Given the description of an element on the screen output the (x, y) to click on. 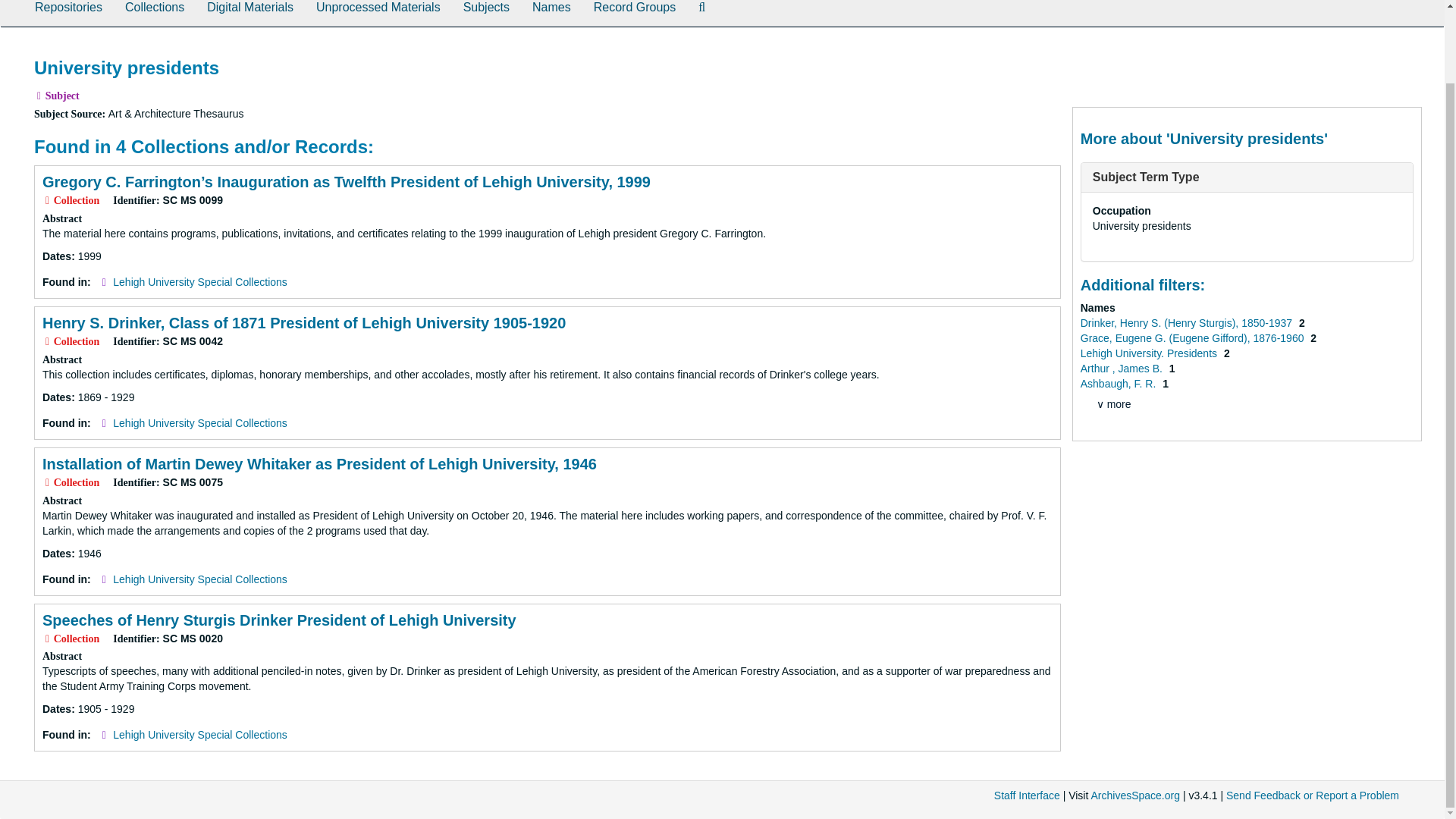
Repositories (68, 13)
Lehigh University Special Collections (199, 734)
Search The Archives (701, 13)
Collections (154, 13)
Search The Archives (701, 13)
Page Actions (1130, 50)
Filter By 'Lehigh University. Presidents' (1150, 353)
Lehigh University Special Collections (199, 422)
Record Groups (634, 13)
Lehigh University. Presidents (1150, 353)
Subject Term Type (1146, 176)
Unprocessed Materials (377, 13)
